Given the description of an element on the screen output the (x, y) to click on. 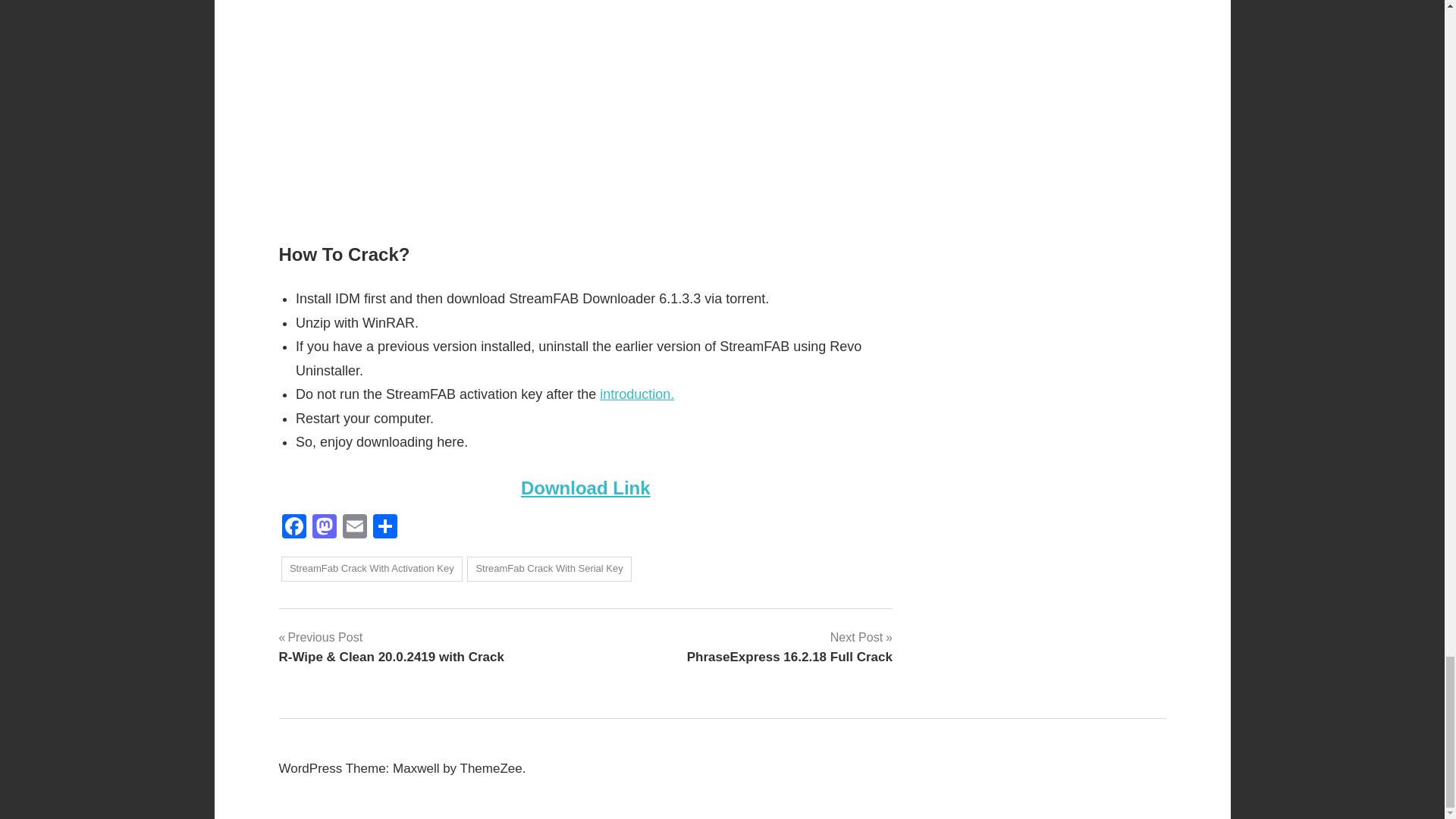
Email (354, 528)
Email (354, 528)
introduction. (636, 394)
StreamFab Crack With Activation Key (372, 568)
Facebook (293, 528)
Mastodon (323, 528)
Download Link (585, 487)
StreamFab Crack With Serial Key (549, 568)
Mastodon (323, 528)
